Given the description of an element on the screen output the (x, y) to click on. 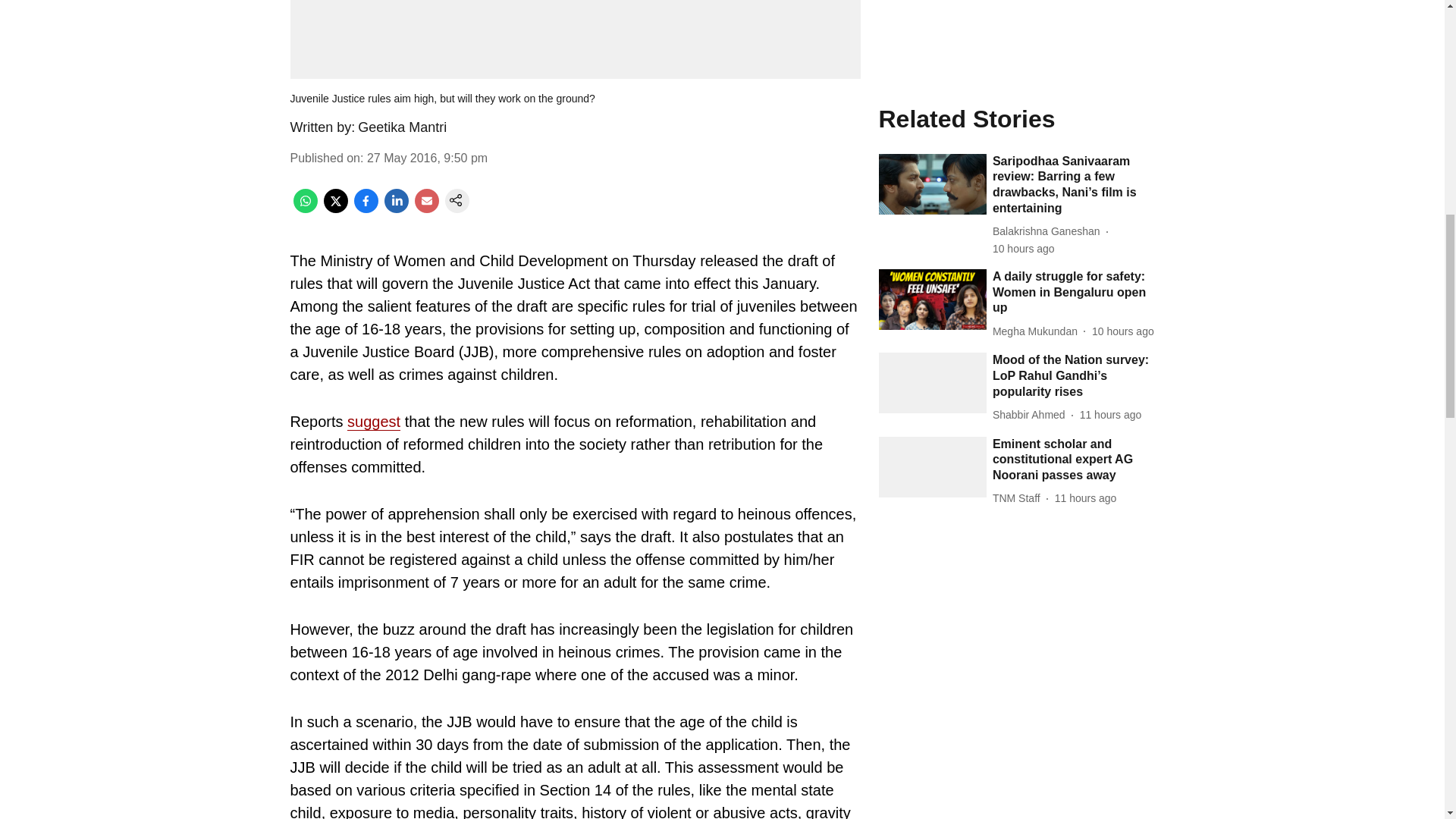
2024-08-29 13:17 (1085, 161)
Geetika Mantri (402, 127)
suggest (373, 421)
2016-05-27 13:50 (426, 157)
2024-08-29 13:45 (1110, 78)
2024-08-29 14:33 (1123, 1)
